Given the description of an element on the screen output the (x, y) to click on. 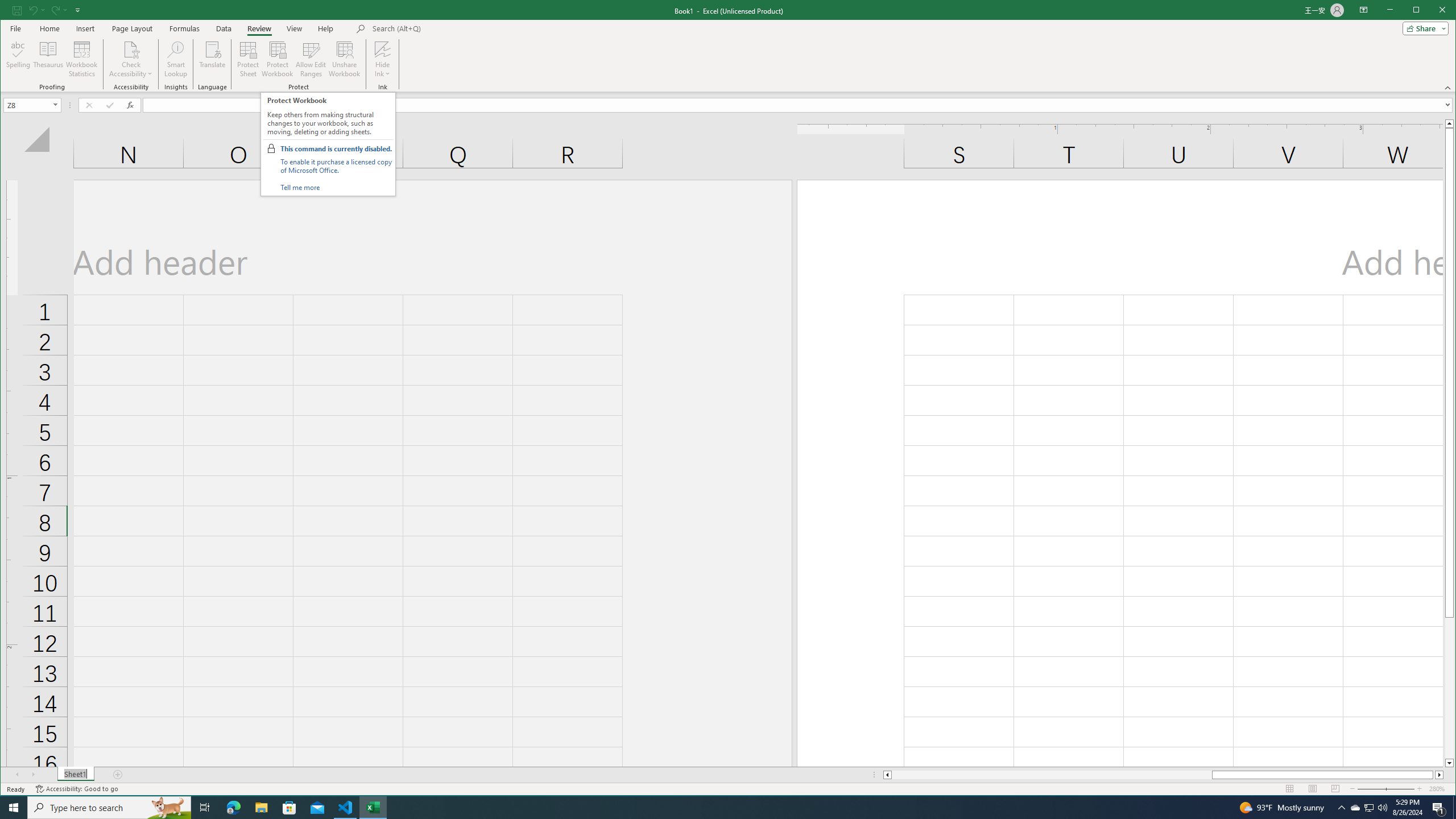
Page Break Preview (1334, 788)
Running applications (717, 807)
Hide Ink (382, 48)
Scroll Left (18, 774)
Scroll Right (34, 774)
Class: NetUIScrollBar (1163, 774)
Customize Quick Access Toolbar (77, 9)
Excel - 1 running window (373, 807)
Line down (1449, 763)
Sheet1 (75, 774)
Quick Access Toolbar (46, 9)
Collapse the Ribbon (1448, 87)
